Given the description of an element on the screen output the (x, y) to click on. 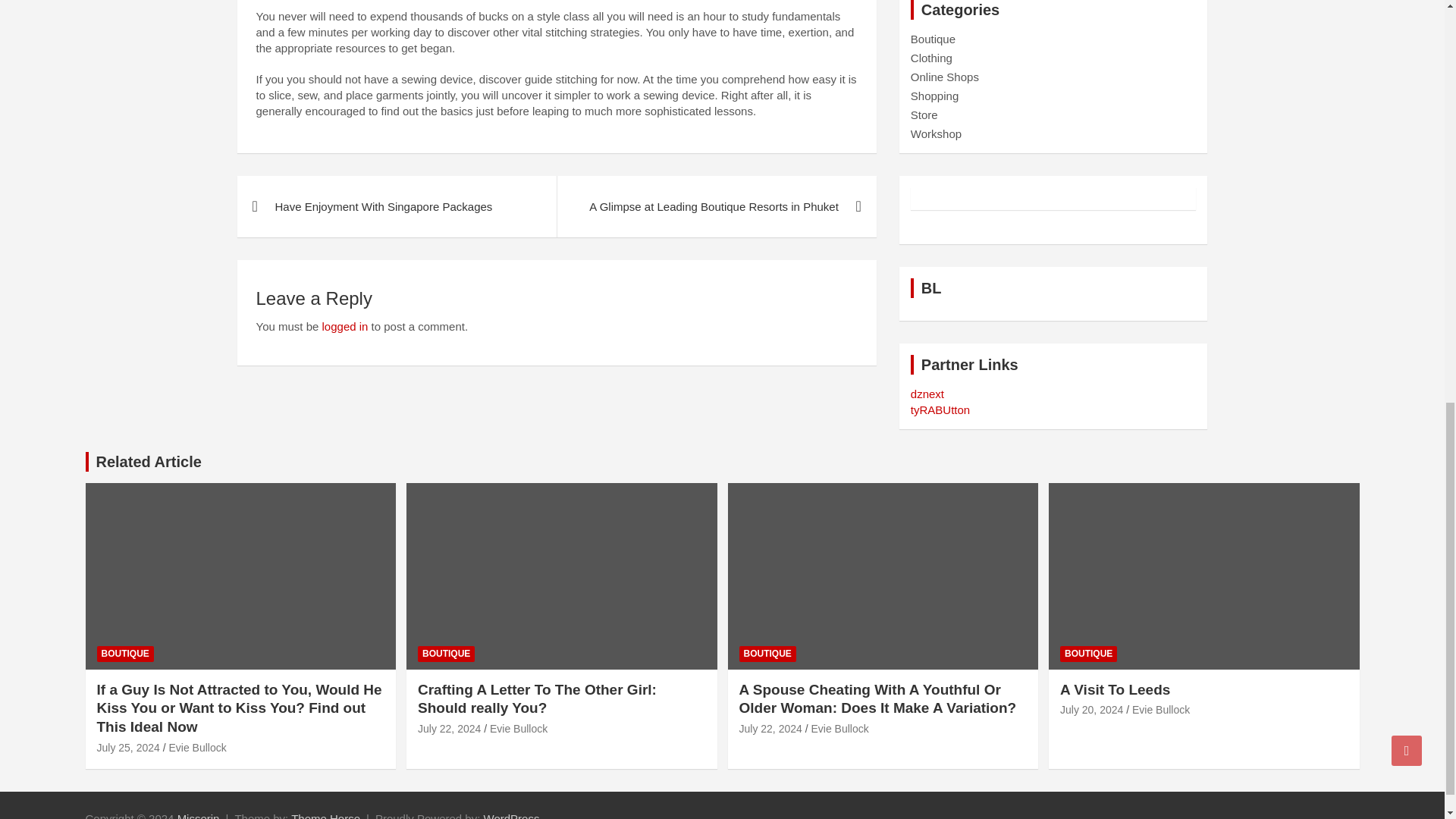
WordPress (511, 815)
A Visit To Leeds (1090, 709)
dznext (927, 393)
A Glimpse at Leading Boutique Resorts in Phuket (716, 206)
Clothing (931, 57)
Crafting A Letter To The Other Girl: Should really You? (448, 728)
Boutique (933, 38)
Workshop (935, 133)
Theme Horse (325, 815)
Misserin (198, 815)
tyRABUtton (940, 409)
Have Enjoyment With Singapore Packages (395, 206)
Store (924, 114)
